Given the description of an element on the screen output the (x, y) to click on. 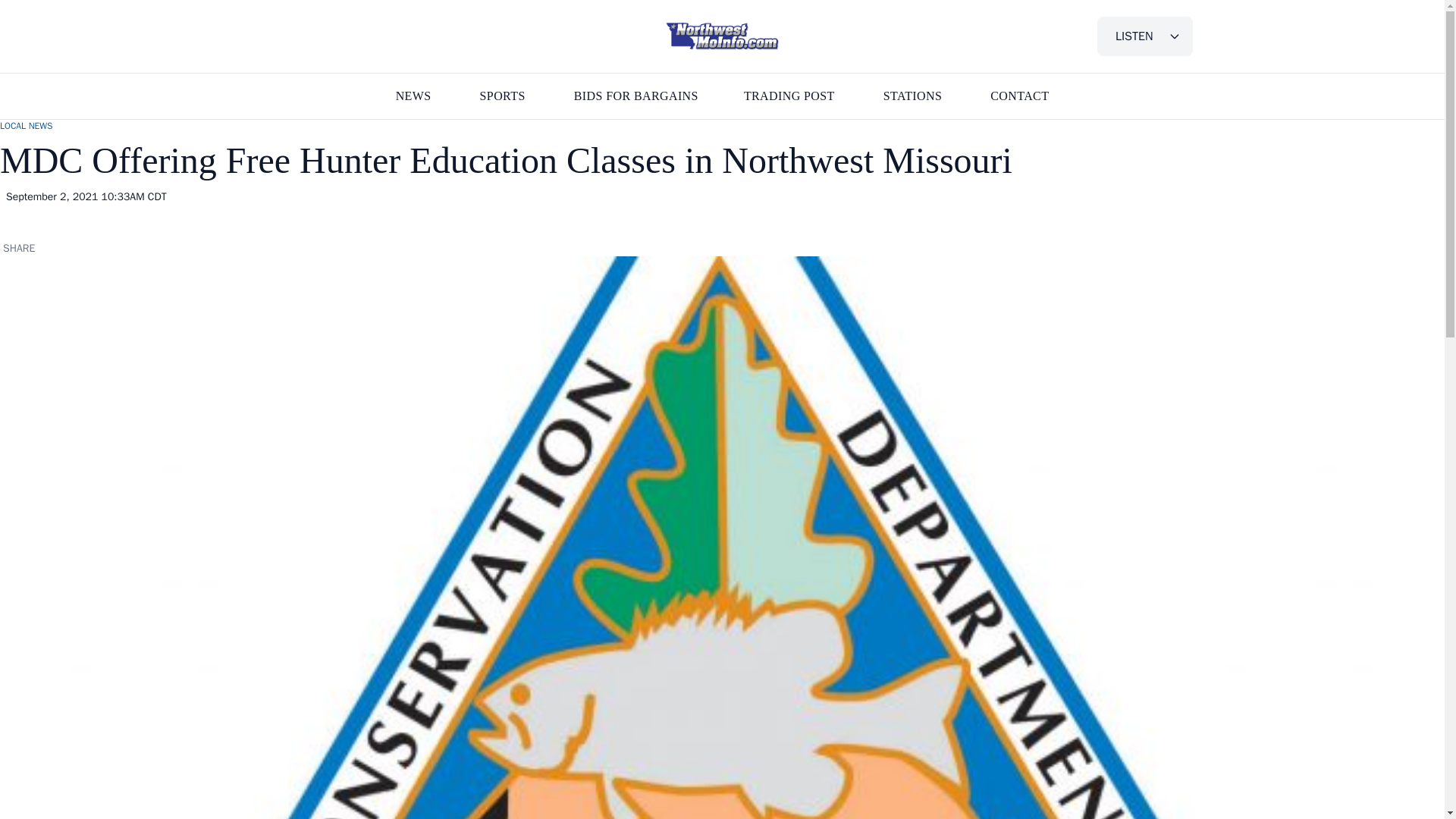
LISTEN (1144, 36)
Northwest MO Info (721, 36)
